Given the description of an element on the screen output the (x, y) to click on. 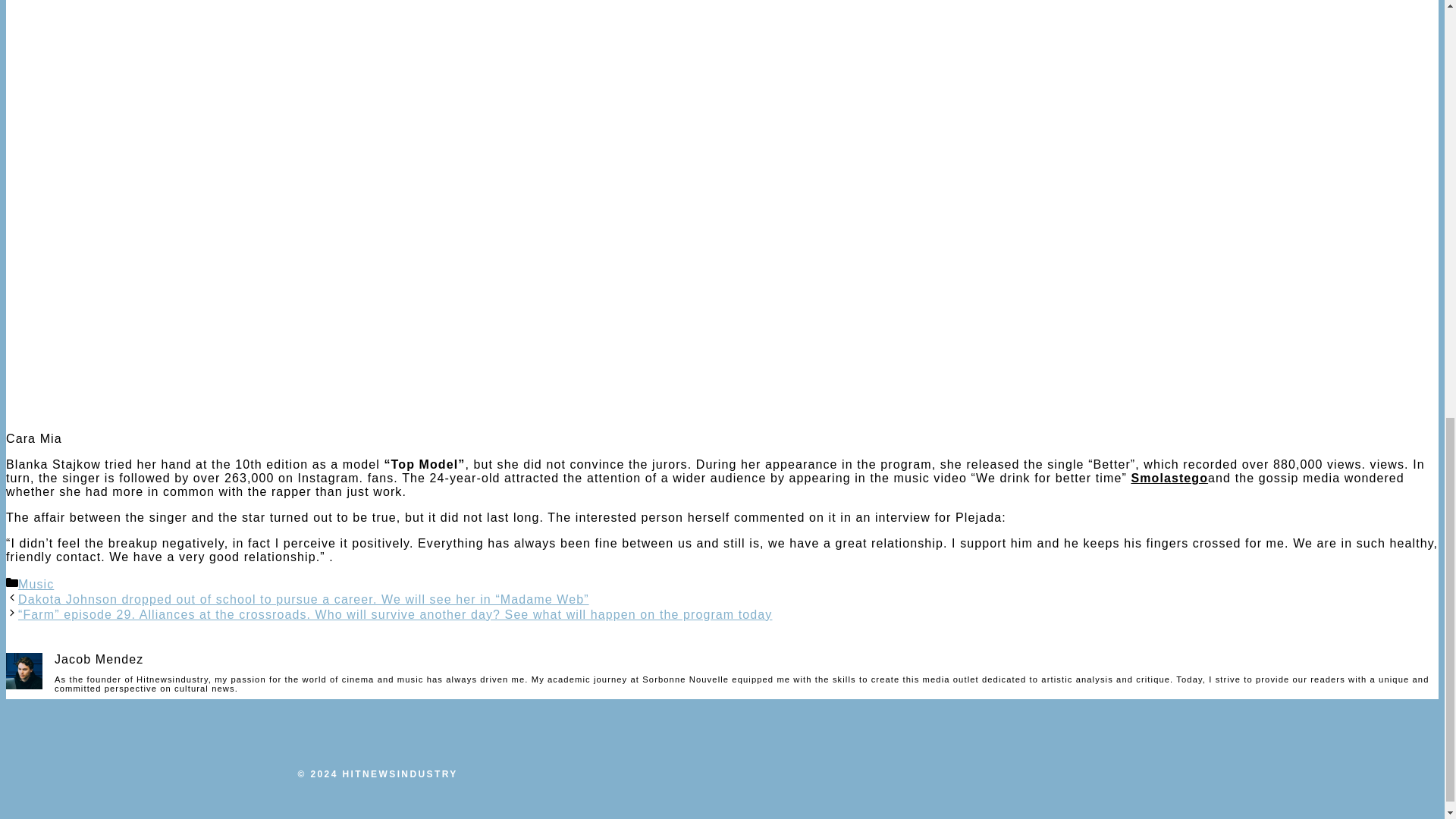
Music (35, 584)
